Given the description of an element on the screen output the (x, y) to click on. 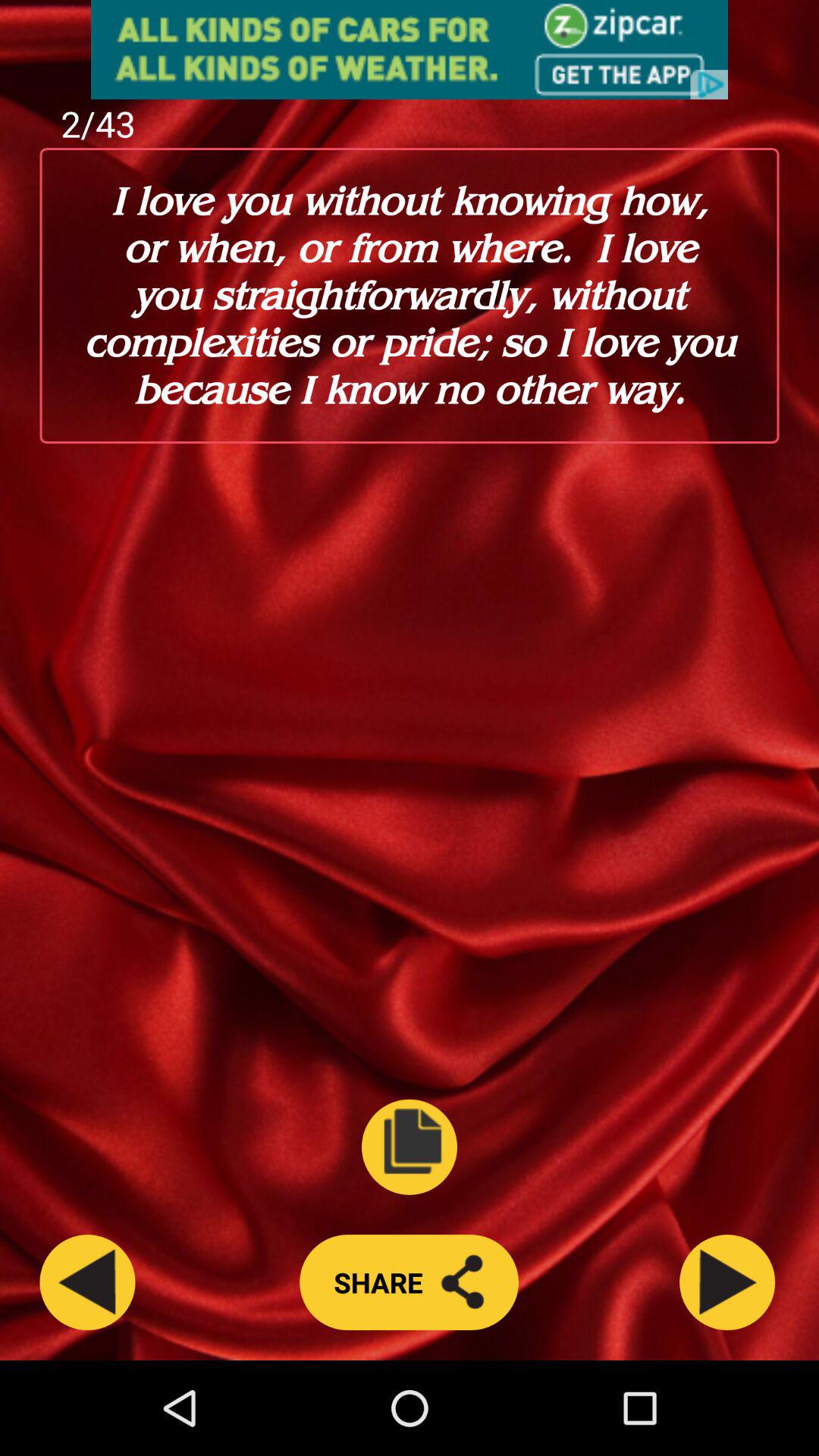
go back (87, 1282)
